Given the description of an element on the screen output the (x, y) to click on. 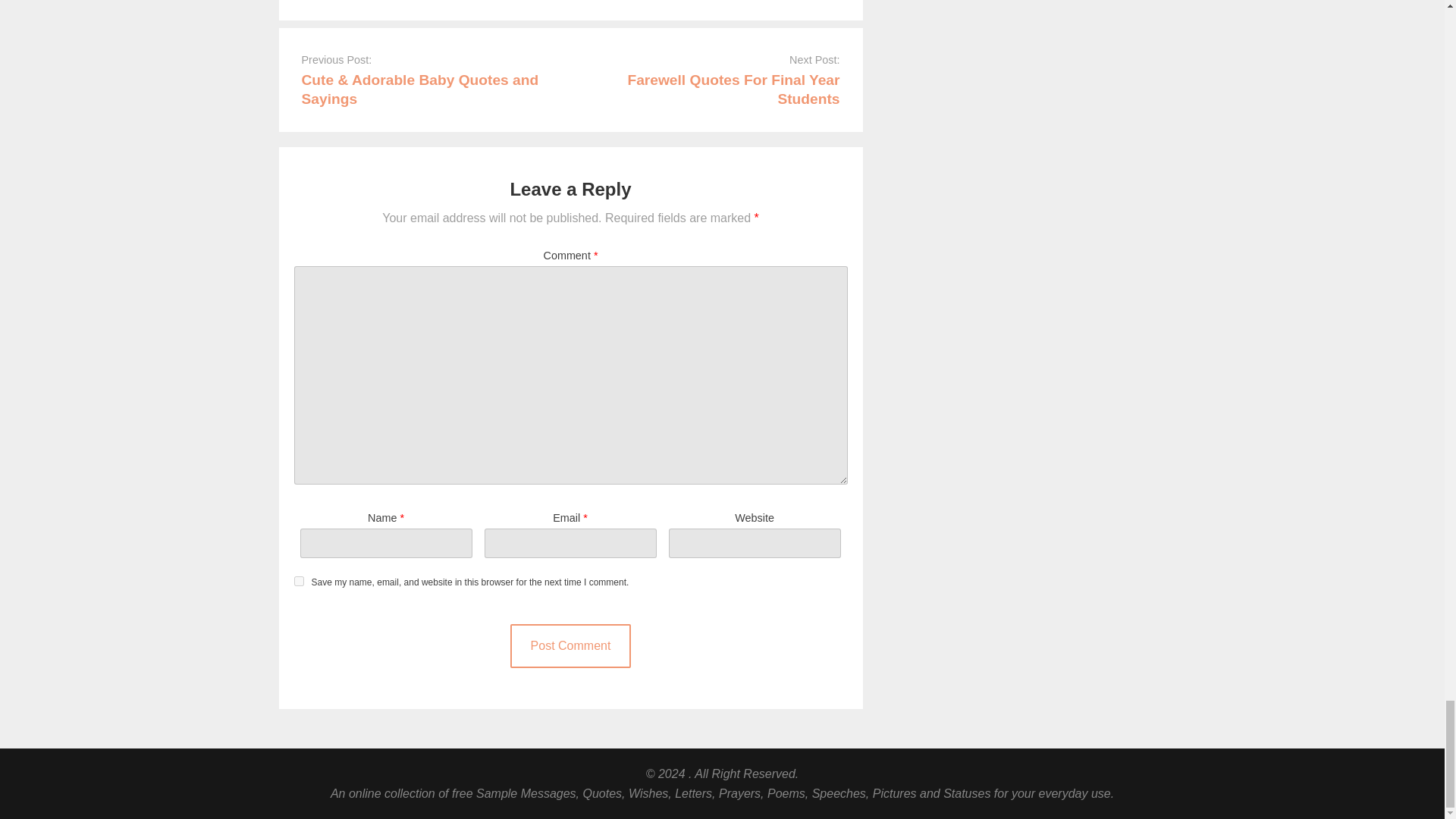
Farewell Quotes For Final Year Students (733, 89)
Post Comment (571, 646)
yes (299, 581)
Post Comment (571, 646)
